Given the description of an element on the screen output the (x, y) to click on. 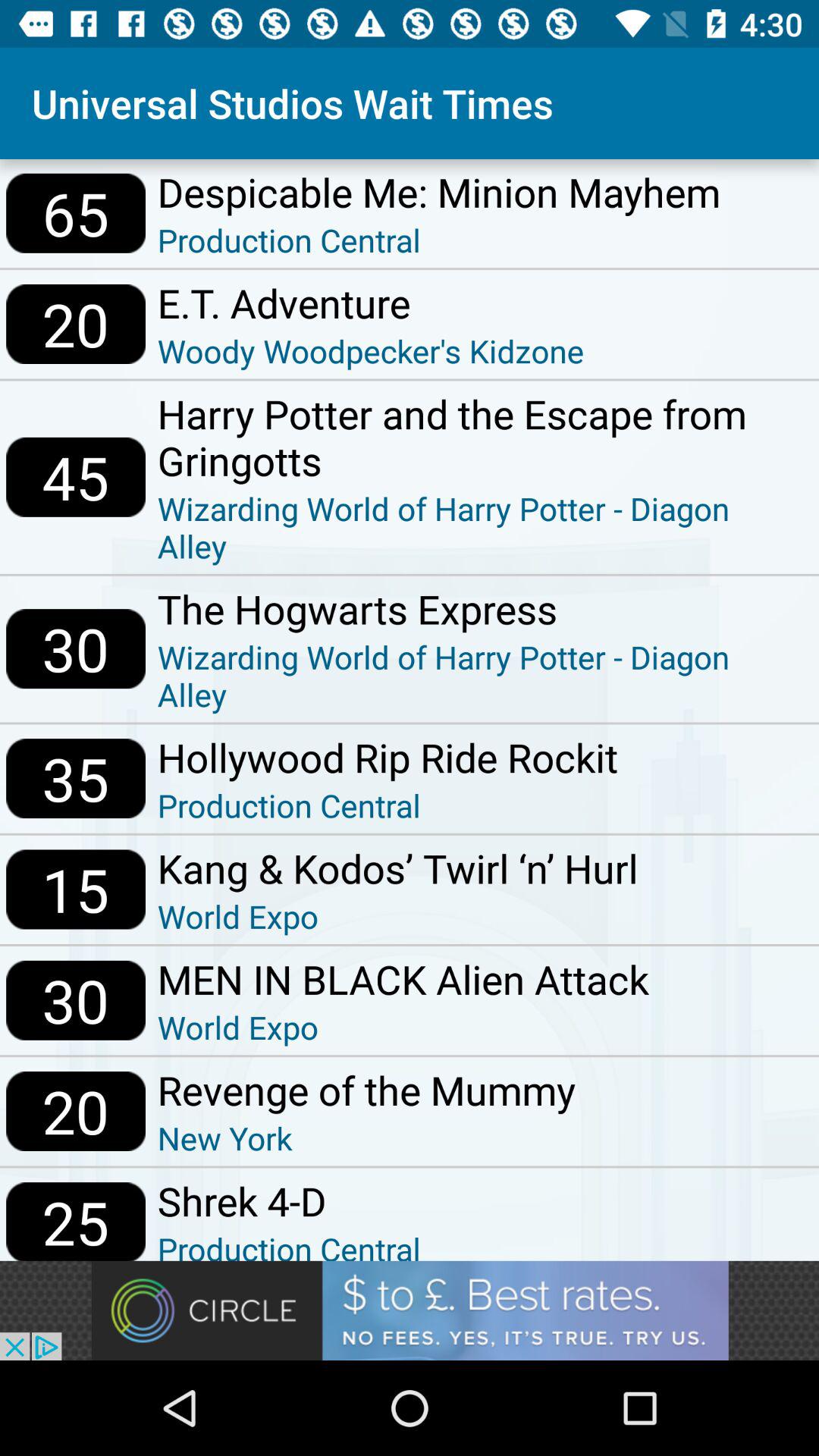
click the item to the right of 20 icon (366, 1137)
